Given the description of an element on the screen output the (x, y) to click on. 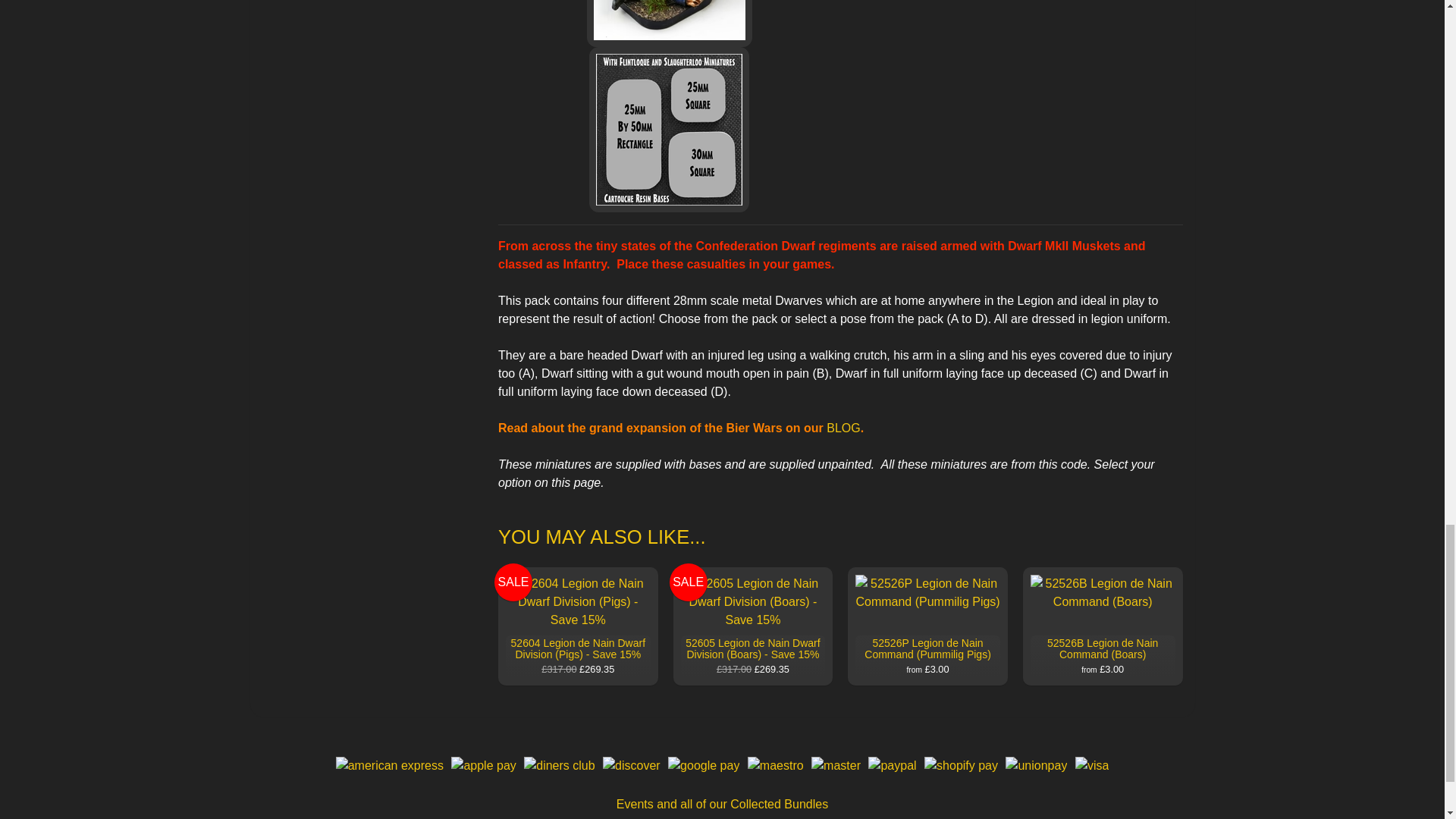
52022 Legion de Nain Casualties (669, 23)
52022 Legion de Nain Casualties (669, 129)
Alternative Armies Blog (843, 427)
